Given the description of an element on the screen output the (x, y) to click on. 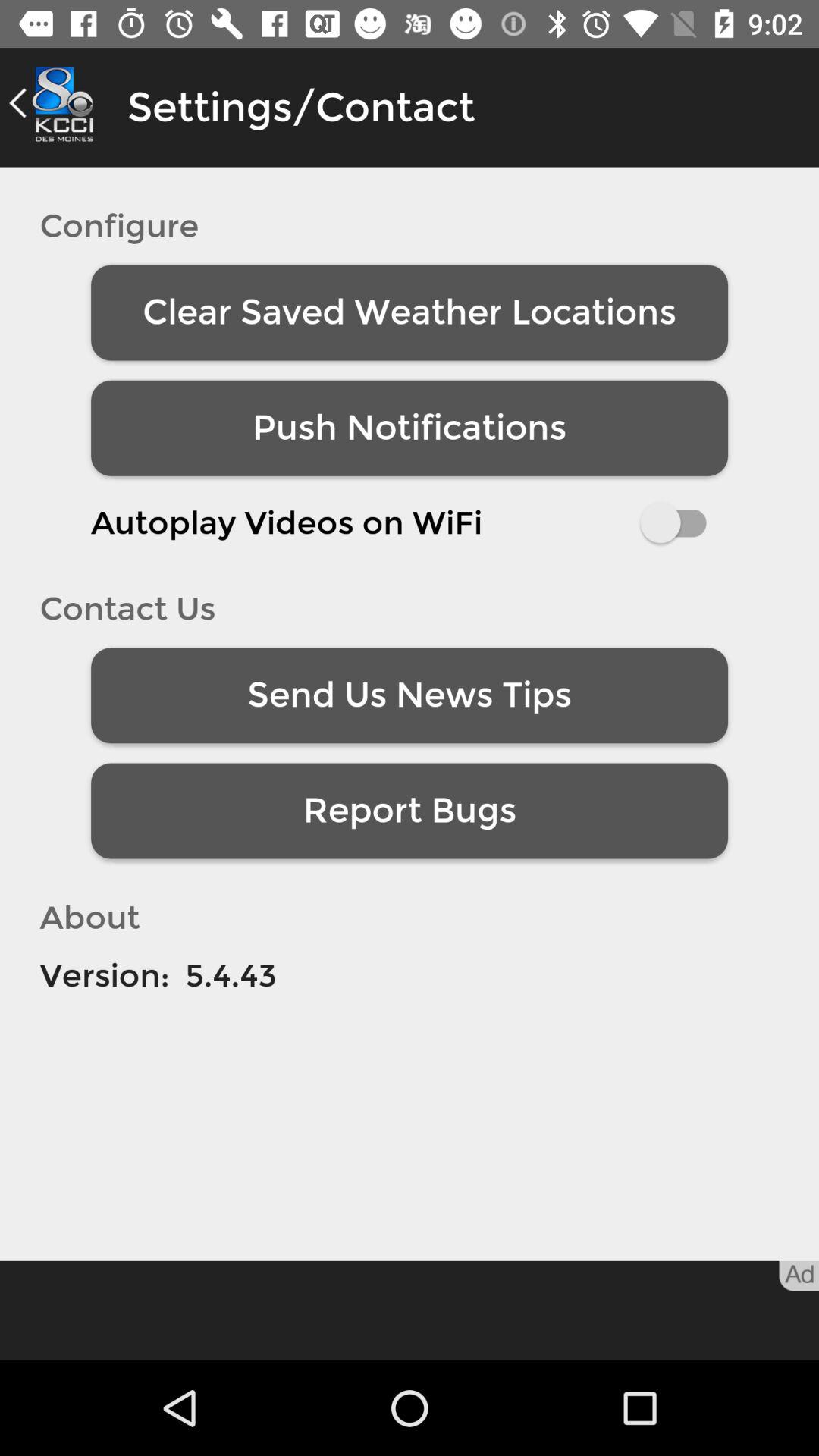
swipe until the version: item (104, 975)
